Given the description of an element on the screen output the (x, y) to click on. 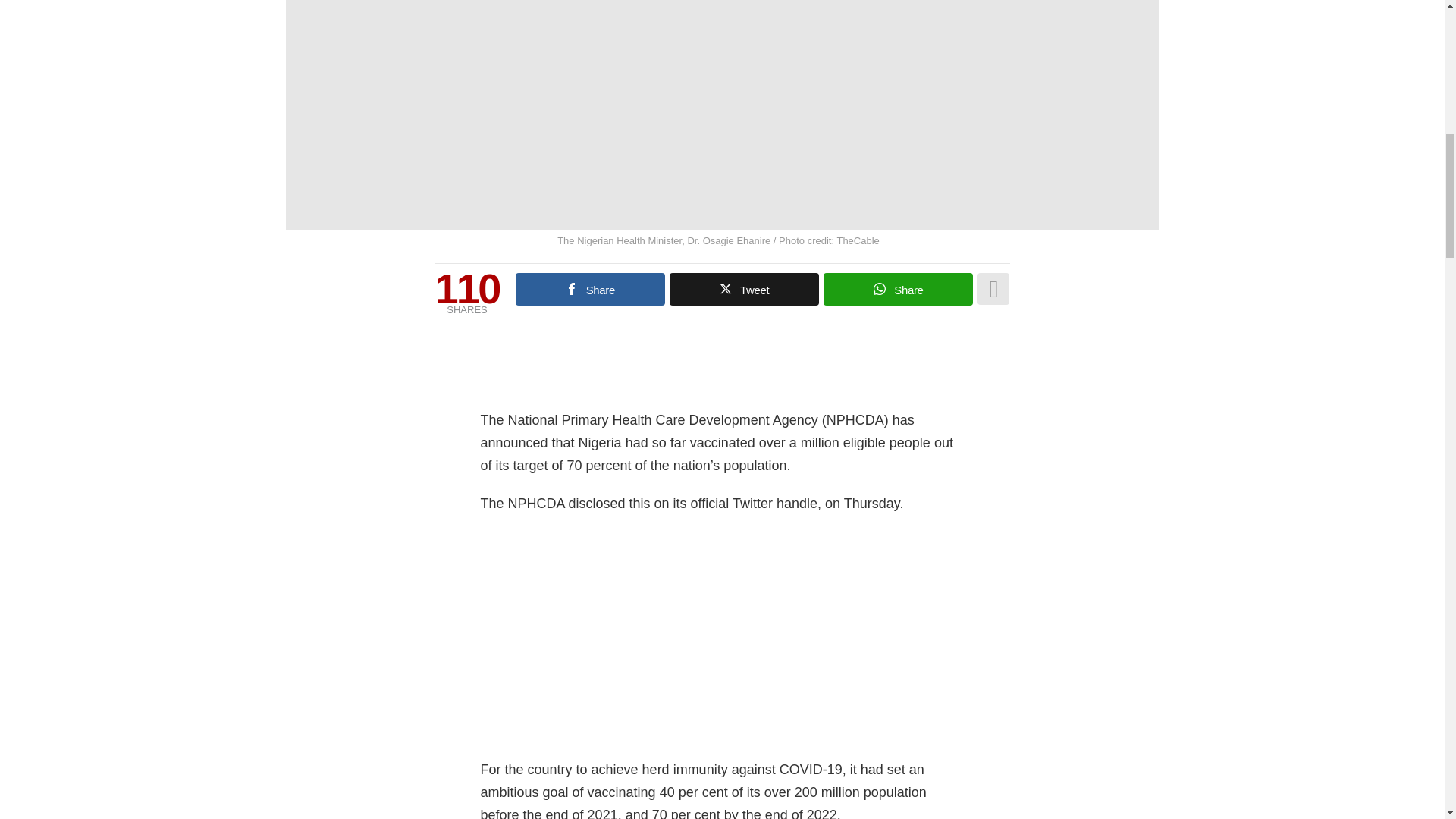
Share (898, 288)
Share (590, 288)
Tweet (743, 288)
